Given the description of an element on the screen output the (x, y) to click on. 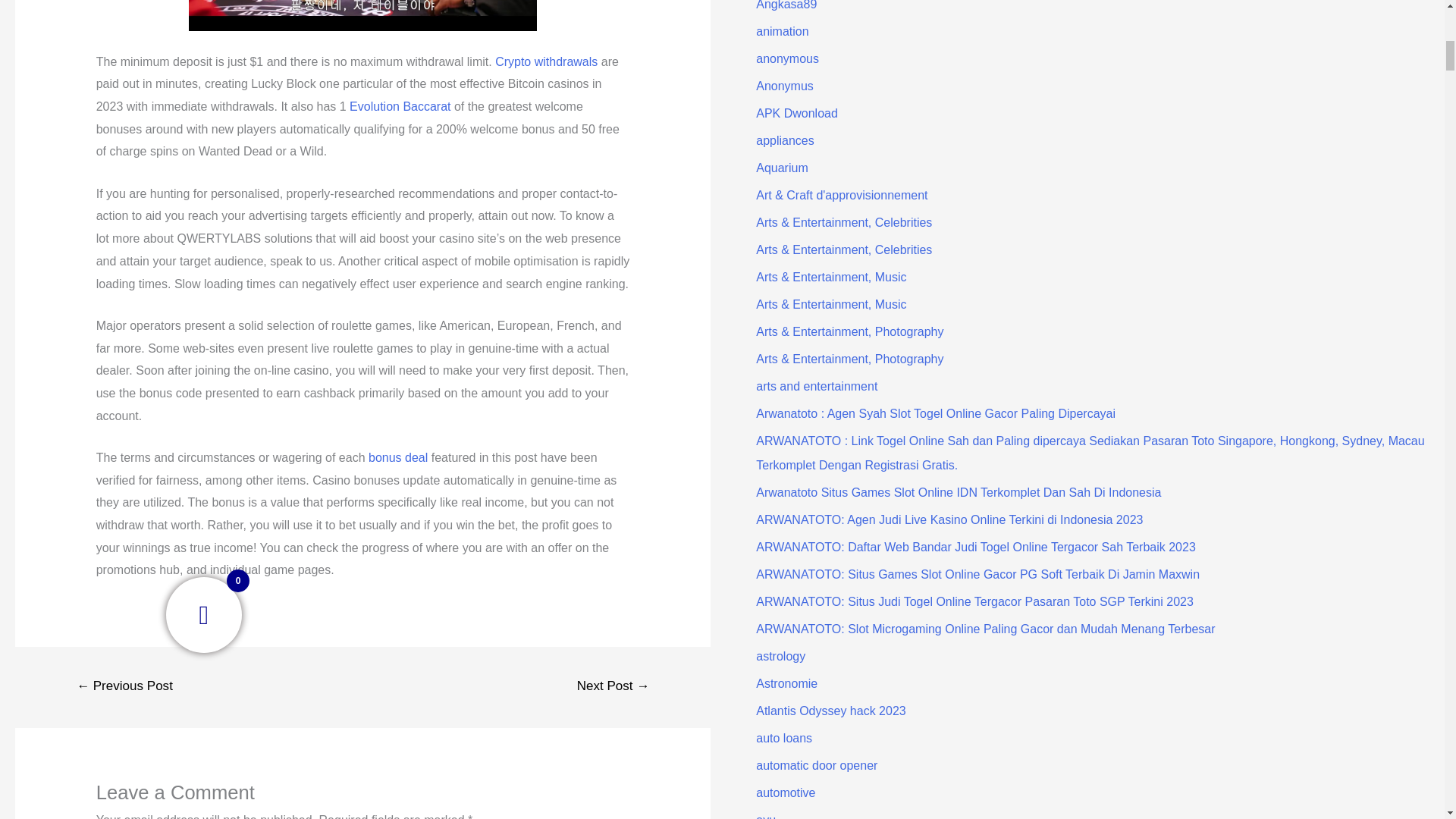
Evolution Baccarat (399, 106)
Crypto withdrawals (545, 61)
bonus deal (398, 457)
